Given the description of an element on the screen output the (x, y) to click on. 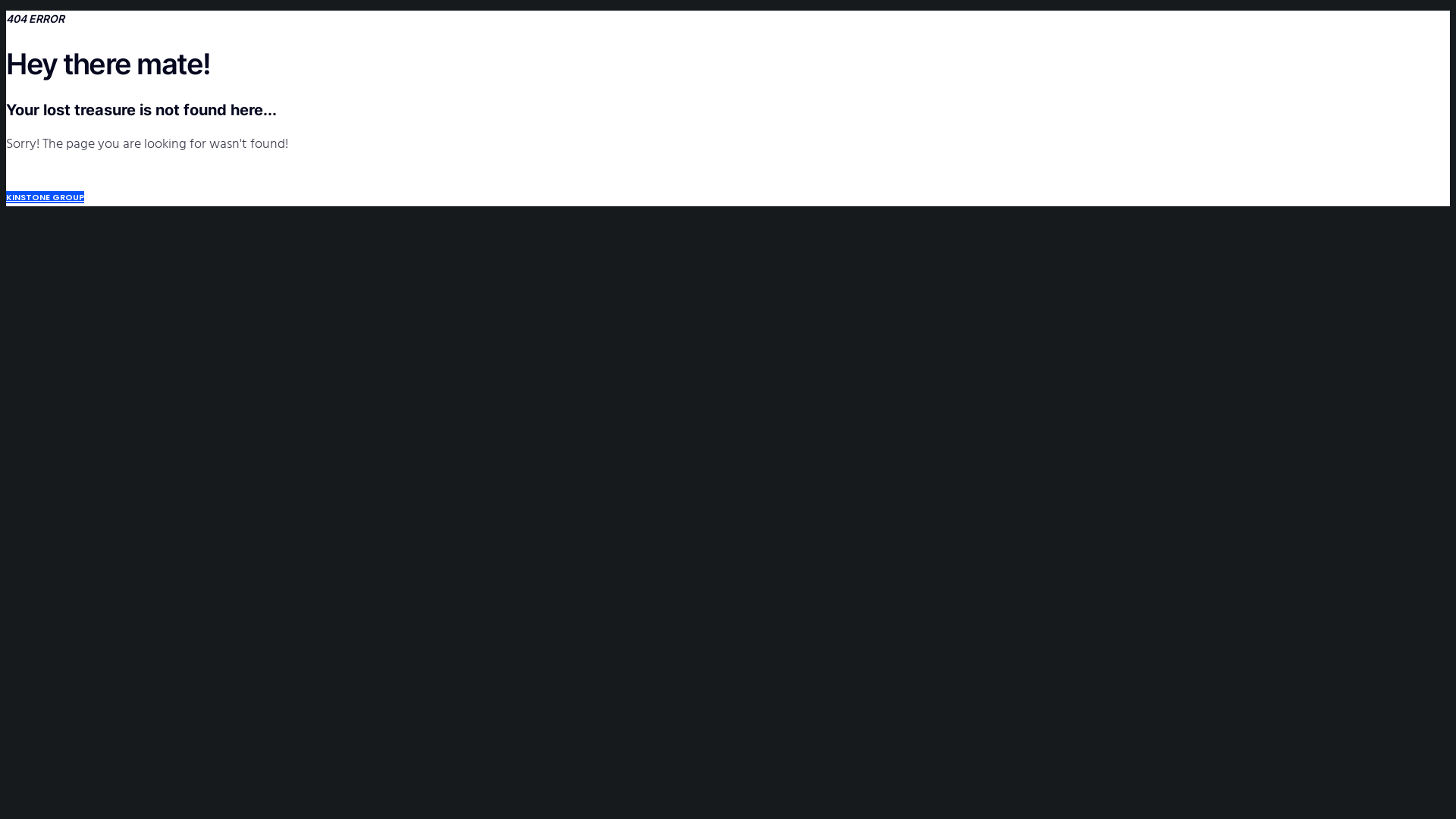
KINSTONE GROUP Element type: text (45, 197)
